Given the description of an element on the screen output the (x, y) to click on. 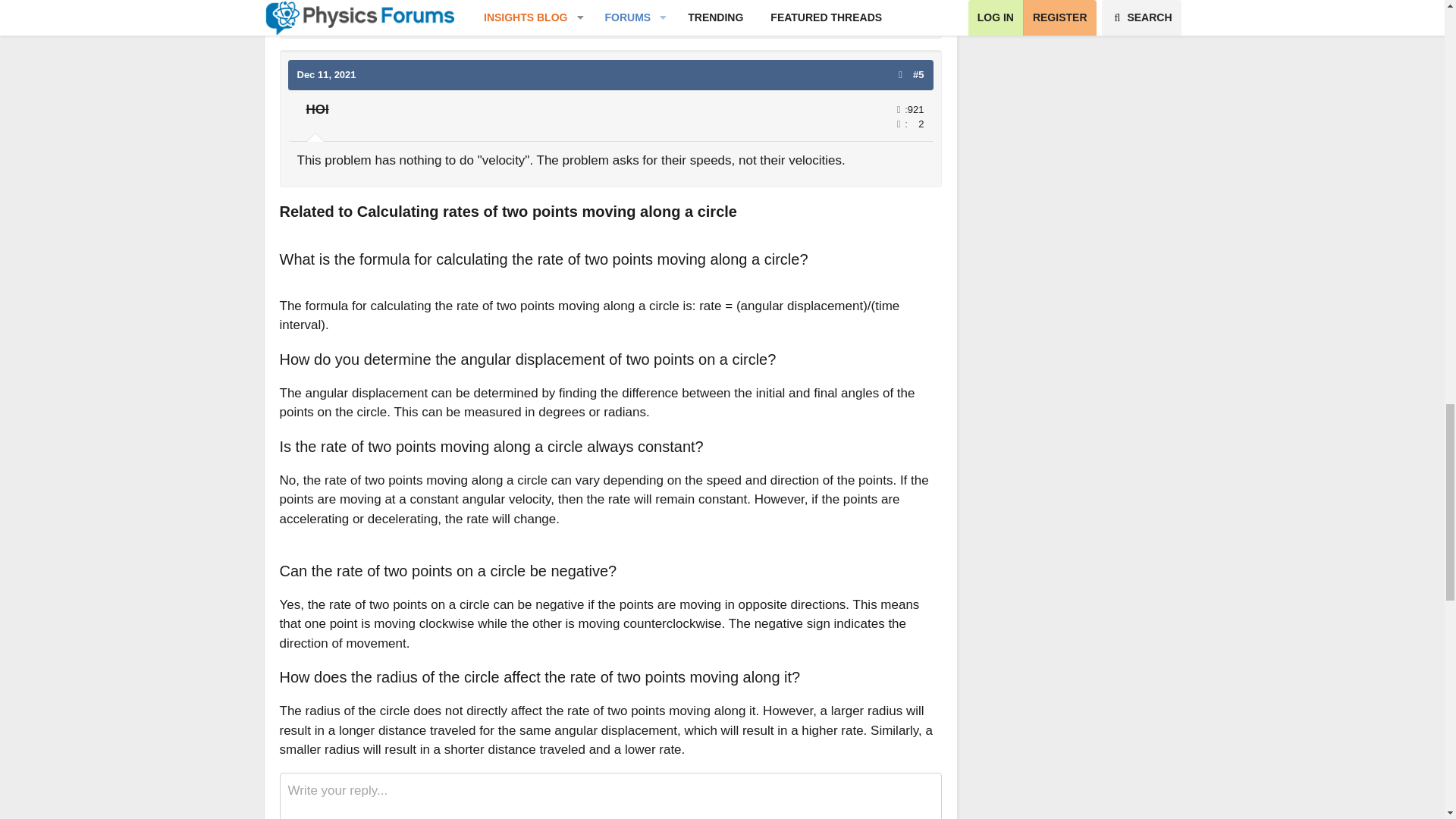
Dec 11, 2021 at 7:57 AM (326, 74)
